Given the description of an element on the screen output the (x, y) to click on. 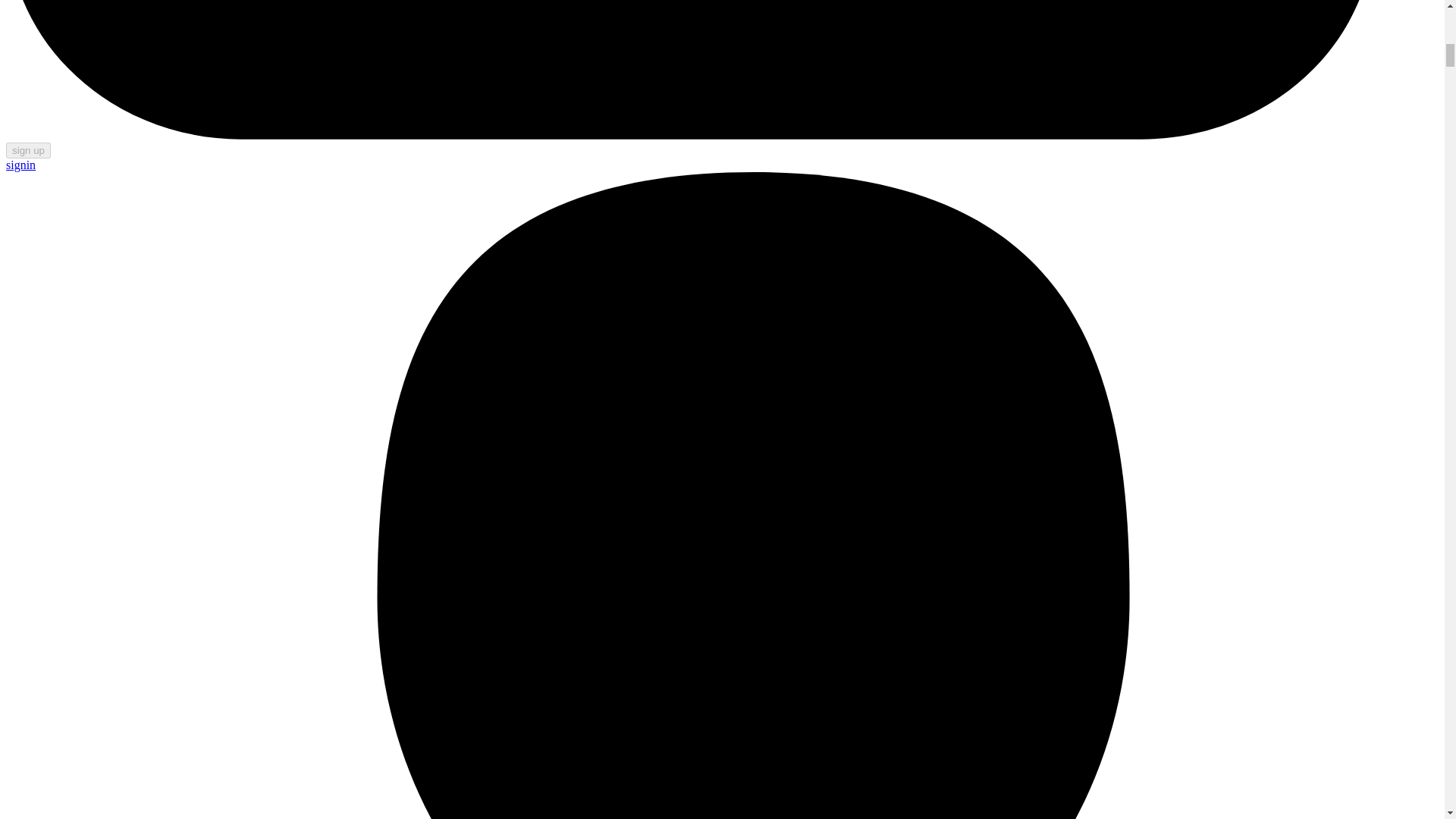
sign up (27, 150)
